Given the description of an element on the screen output the (x, y) to click on. 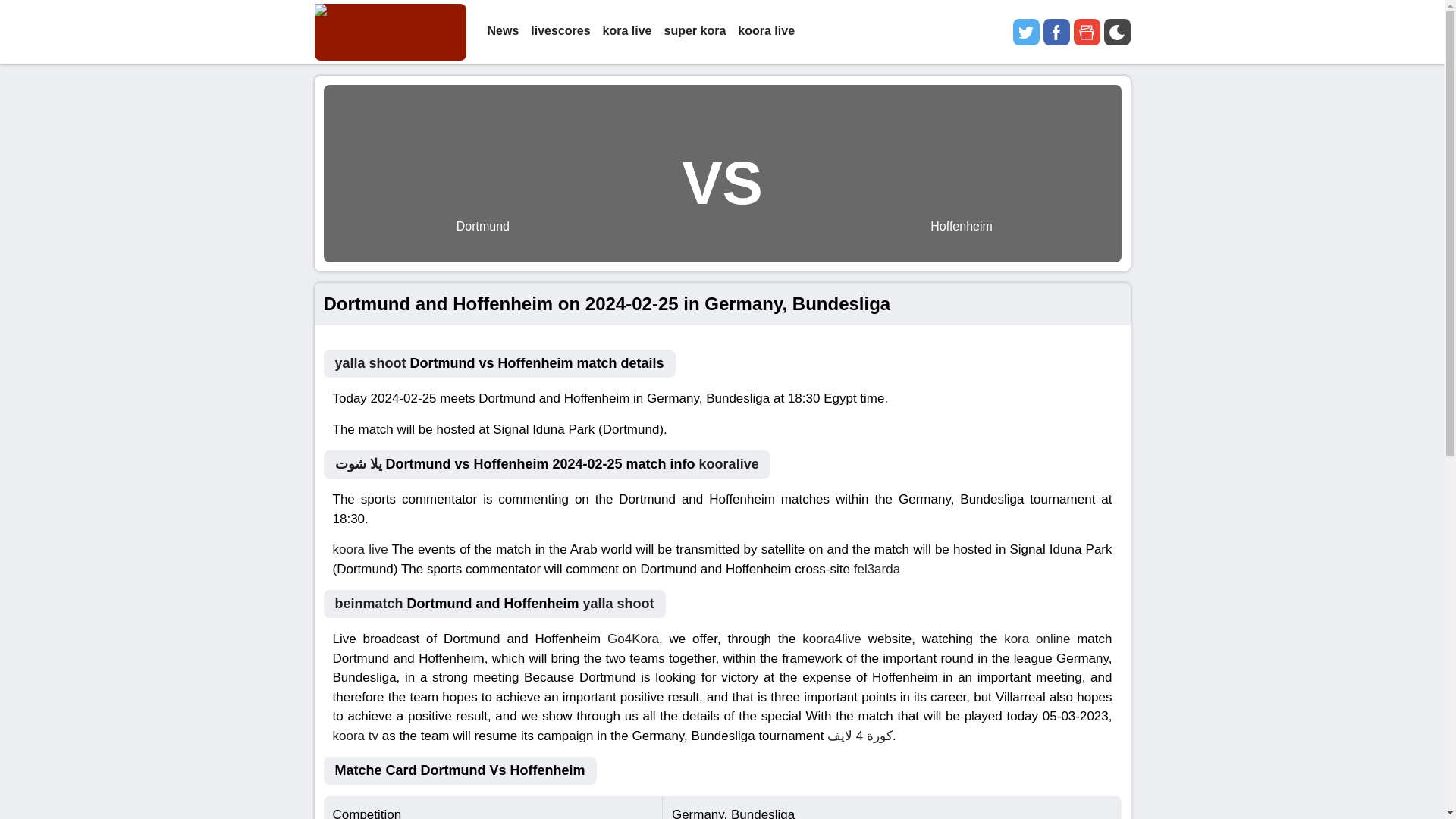
super kora (695, 31)
fel3arda (876, 568)
livescores (559, 31)
koora live (359, 549)
koora tv (354, 735)
beinmatch (368, 603)
kora online (1037, 638)
koora live (766, 31)
kora live (627, 31)
yalla shoot (618, 603)
yalla shoot (370, 363)
kooralive (728, 463)
Go4Kora (633, 638)
koora4live (831, 638)
